Given the description of an element on the screen output the (x, y) to click on. 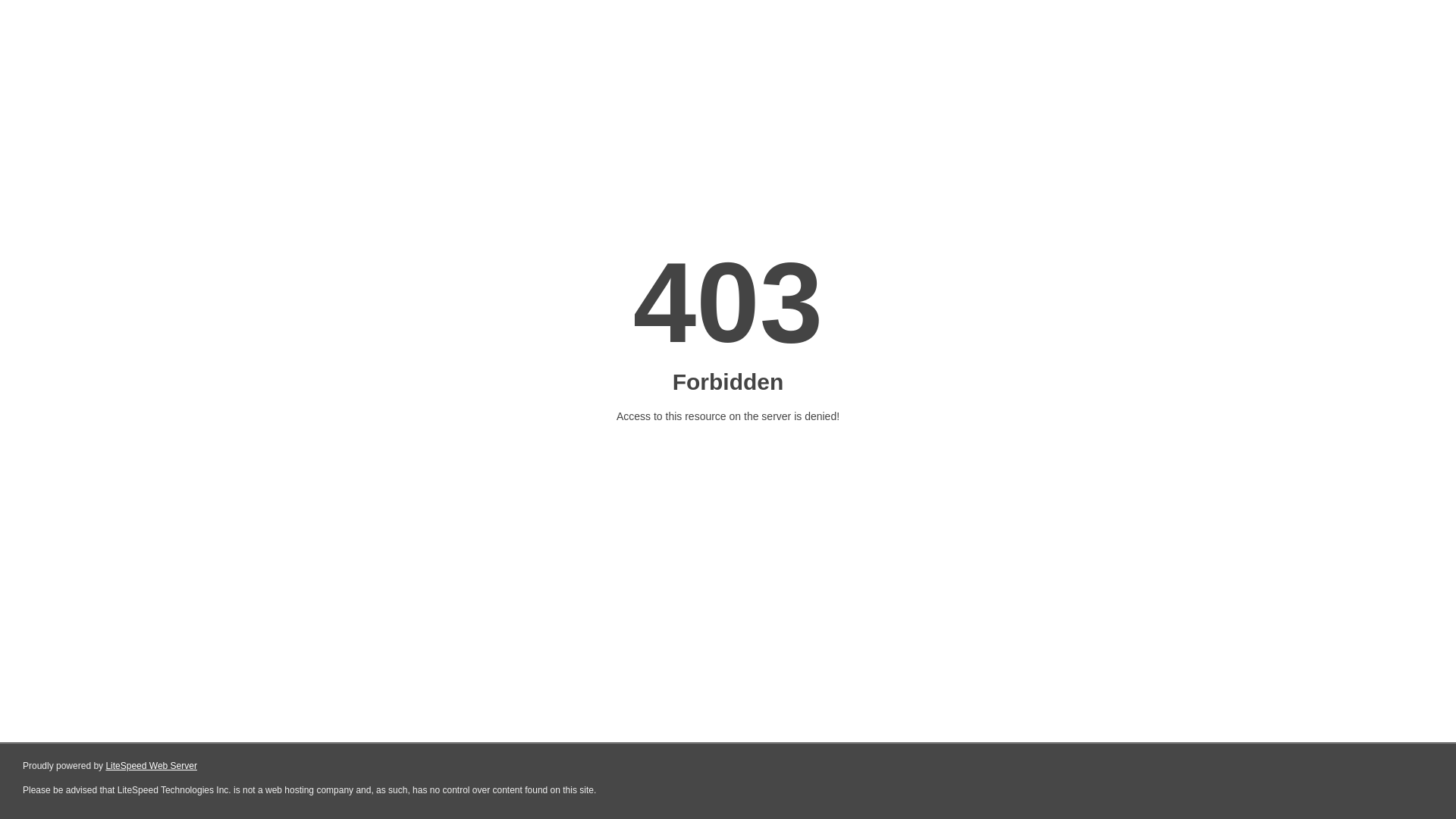
LiteSpeed Web Server Element type: text (151, 765)
